Given the description of an element on the screen output the (x, y) to click on. 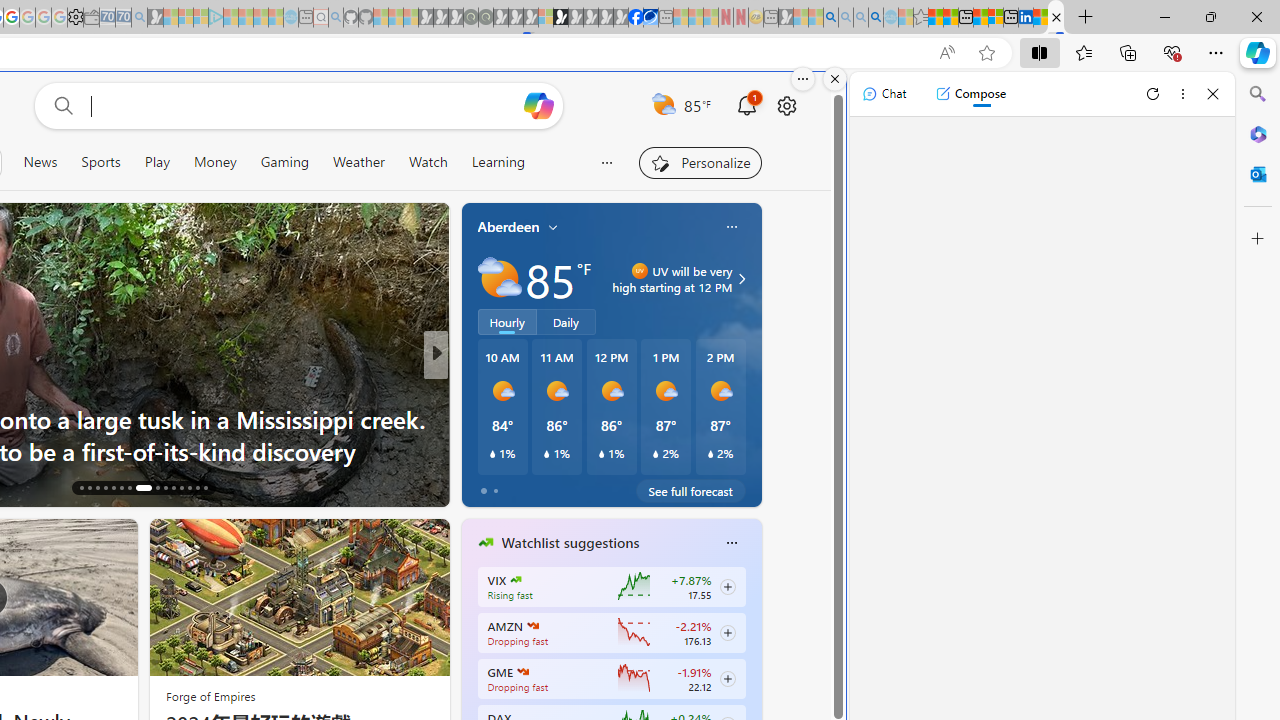
Aberdeen (508, 227)
View comments 21 Comment (582, 486)
AutomationID: tab-17 (88, 487)
Bing AI - Search (831, 17)
Microsoft account | Privacy (996, 17)
See full forecast (690, 490)
Weather (358, 161)
